Given the description of an element on the screen output the (x, y) to click on. 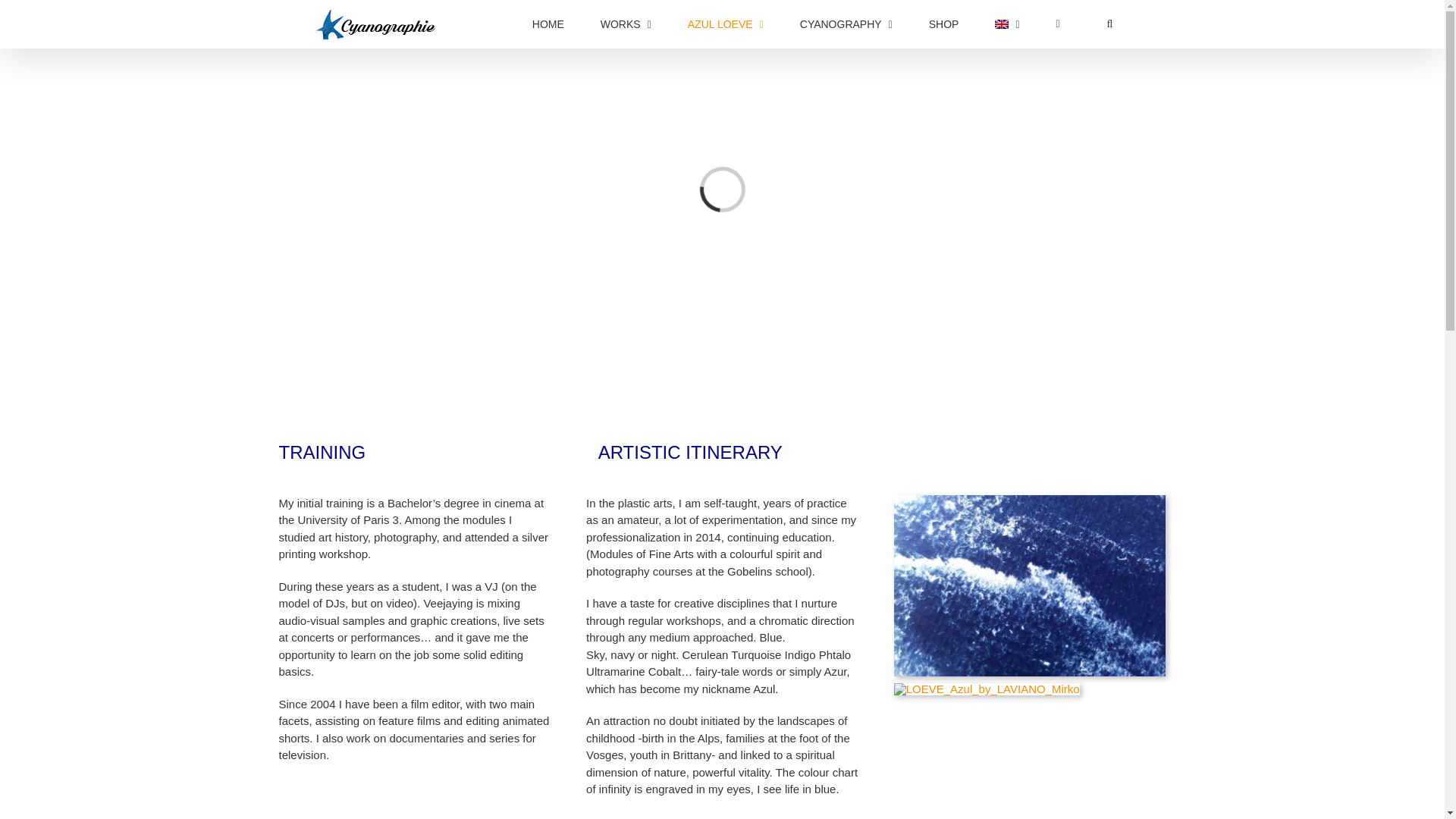
WORKS (722, 469)
SHOP (625, 24)
HOME (943, 24)
AZUL LOEVE (547, 24)
CYANOGRAPHY (725, 24)
